Given the description of an element on the screen output the (x, y) to click on. 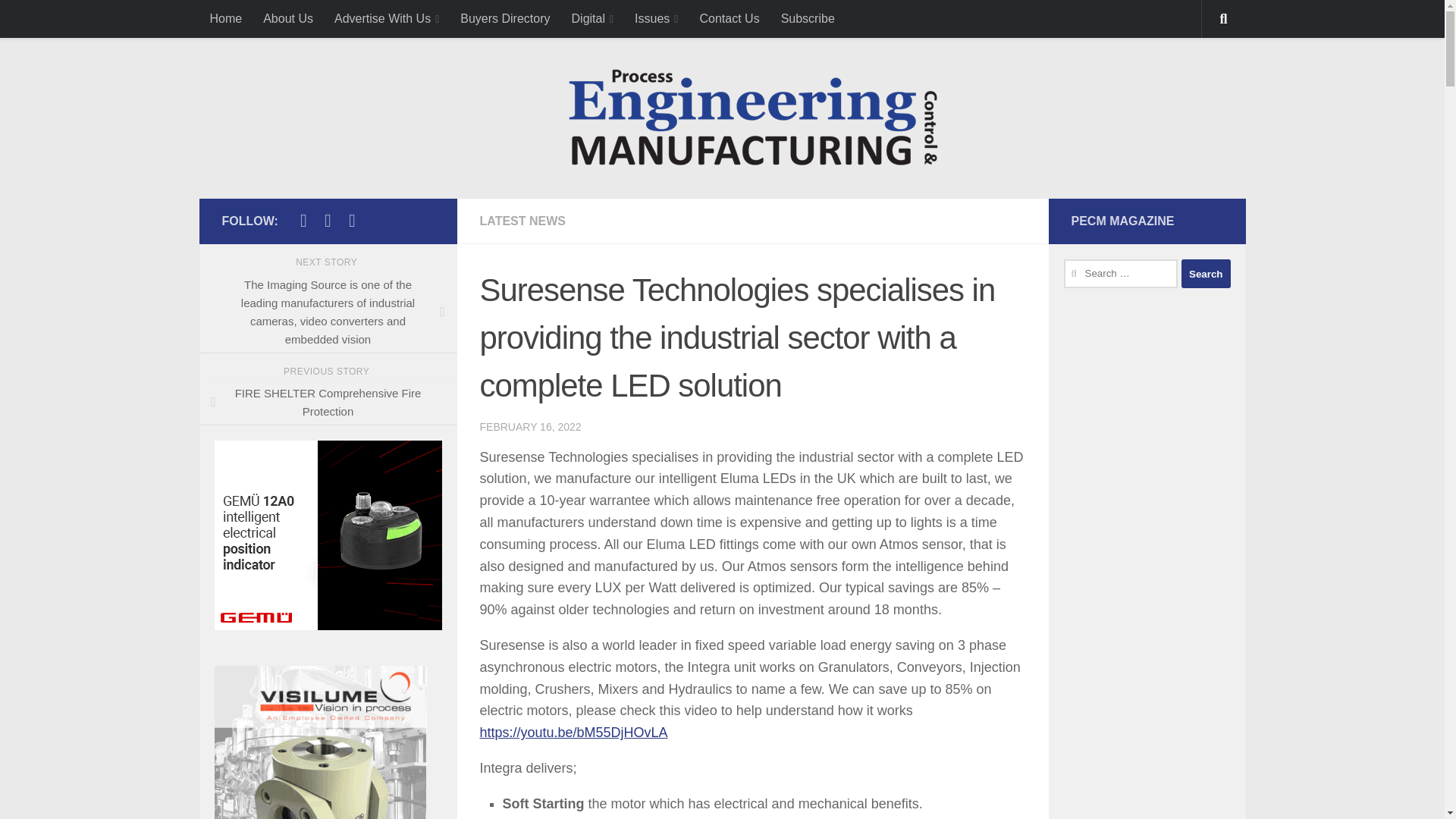
Search (1205, 273)
Search (1205, 273)
Issues (656, 18)
About Us (287, 18)
Advertise With Us (386, 18)
Home (224, 18)
Skip to content (63, 20)
Buyers Directory (504, 18)
Digital (592, 18)
